Given the description of an element on the screen output the (x, y) to click on. 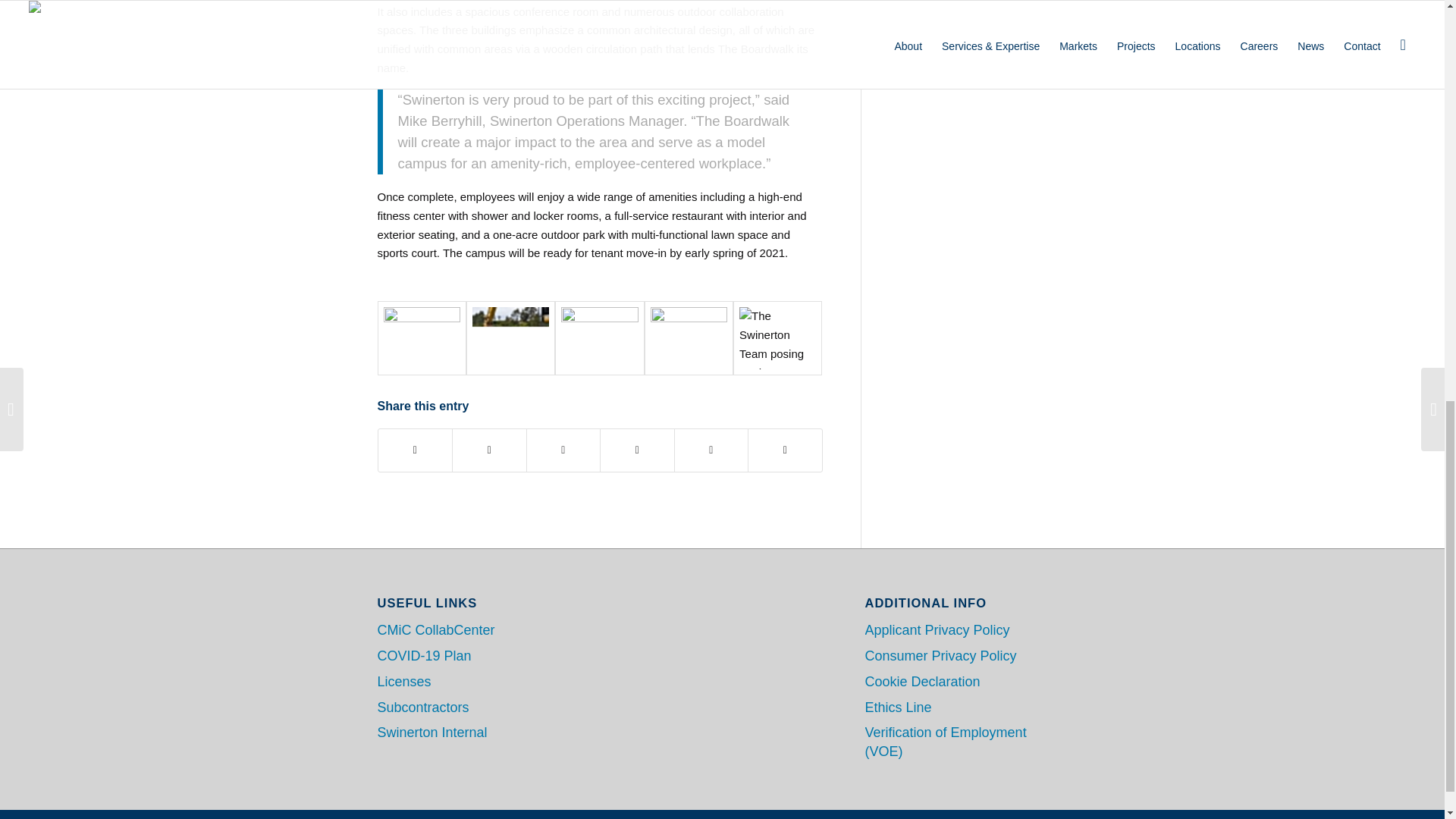
Swinerton Team - The Boardwalk Groundbreaking (777, 338)
Swinerton-Boardwalk-Groundbreaking-1 (509, 338)
Swinerton-Boardwalk-Groundbreaking-3 (421, 338)
Swinerton-Boardwalk-Groundbreaking-2 (598, 338)
Swinerton-Boardwalk-Groundbreaking-4 (689, 338)
